Given the description of an element on the screen output the (x, y) to click on. 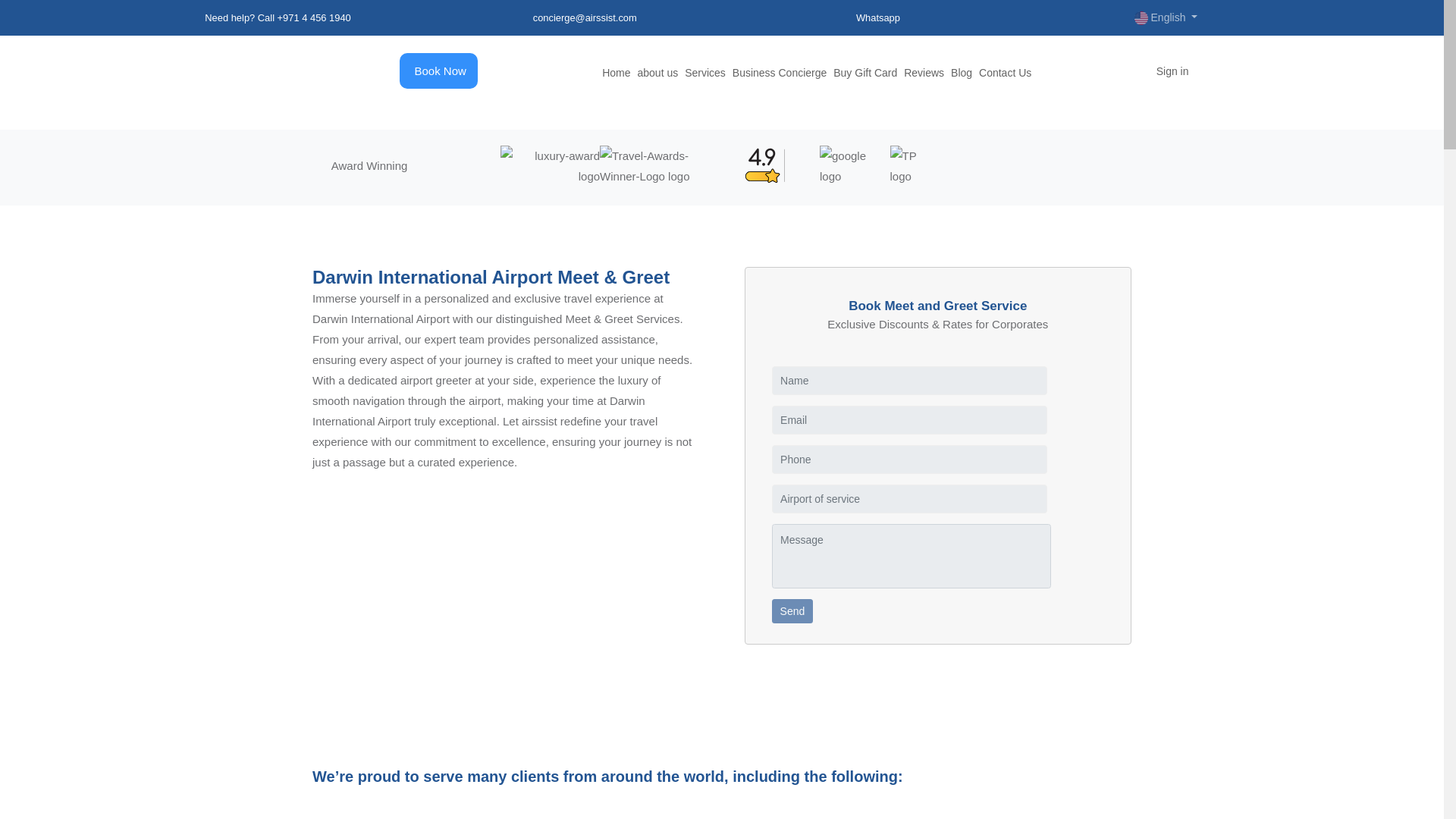
Reviews (923, 72)
about us (657, 72)
Services (704, 72)
Home (616, 72)
Whatsapp (877, 17)
Send (791, 610)
Business Concierge (779, 72)
Blog (961, 72)
Contact Us (1004, 72)
English (1166, 17)
